Given the description of an element on the screen output the (x, y) to click on. 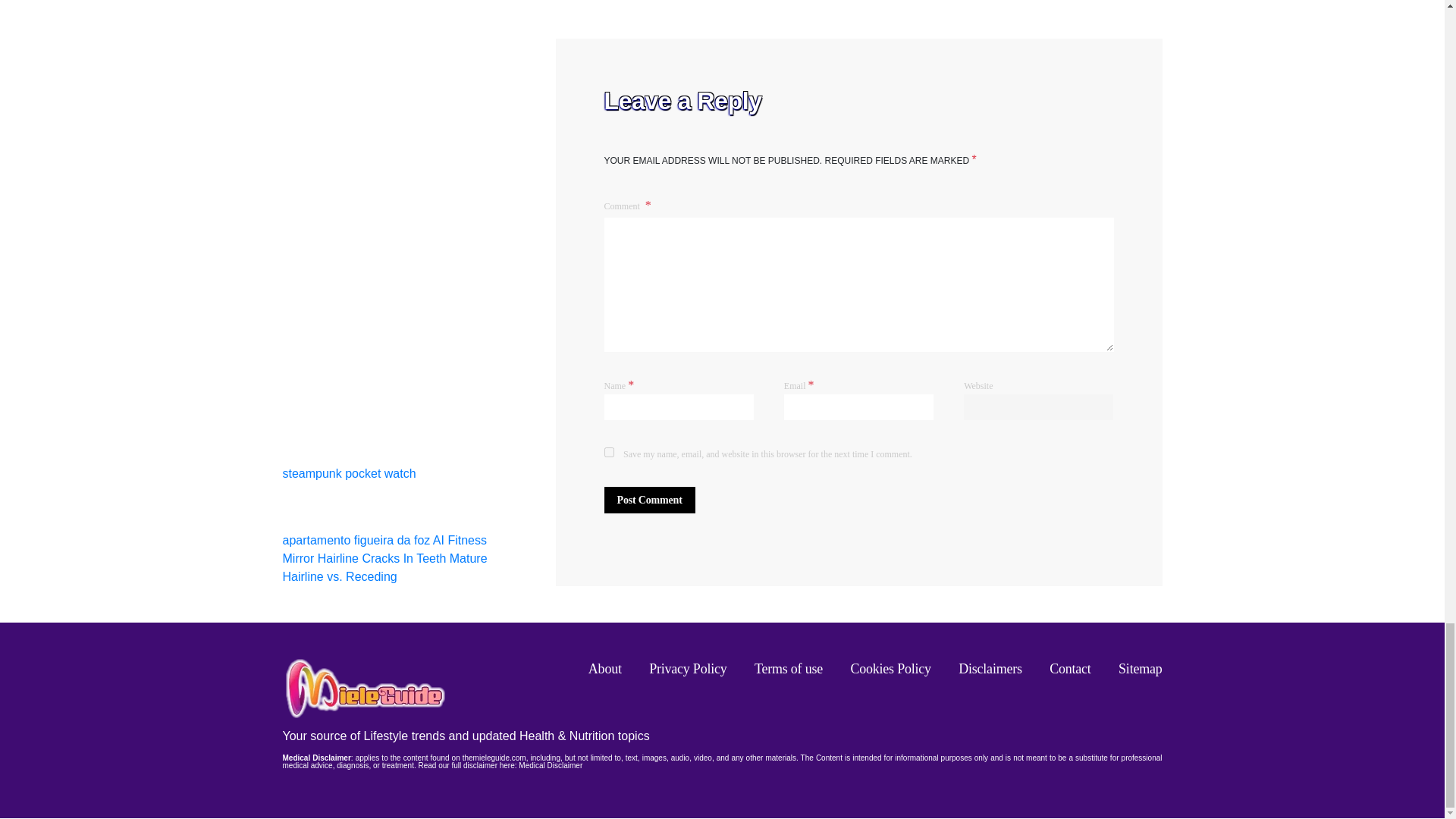
Post Comment (649, 499)
yes (608, 452)
